Given the description of an element on the screen output the (x, y) to click on. 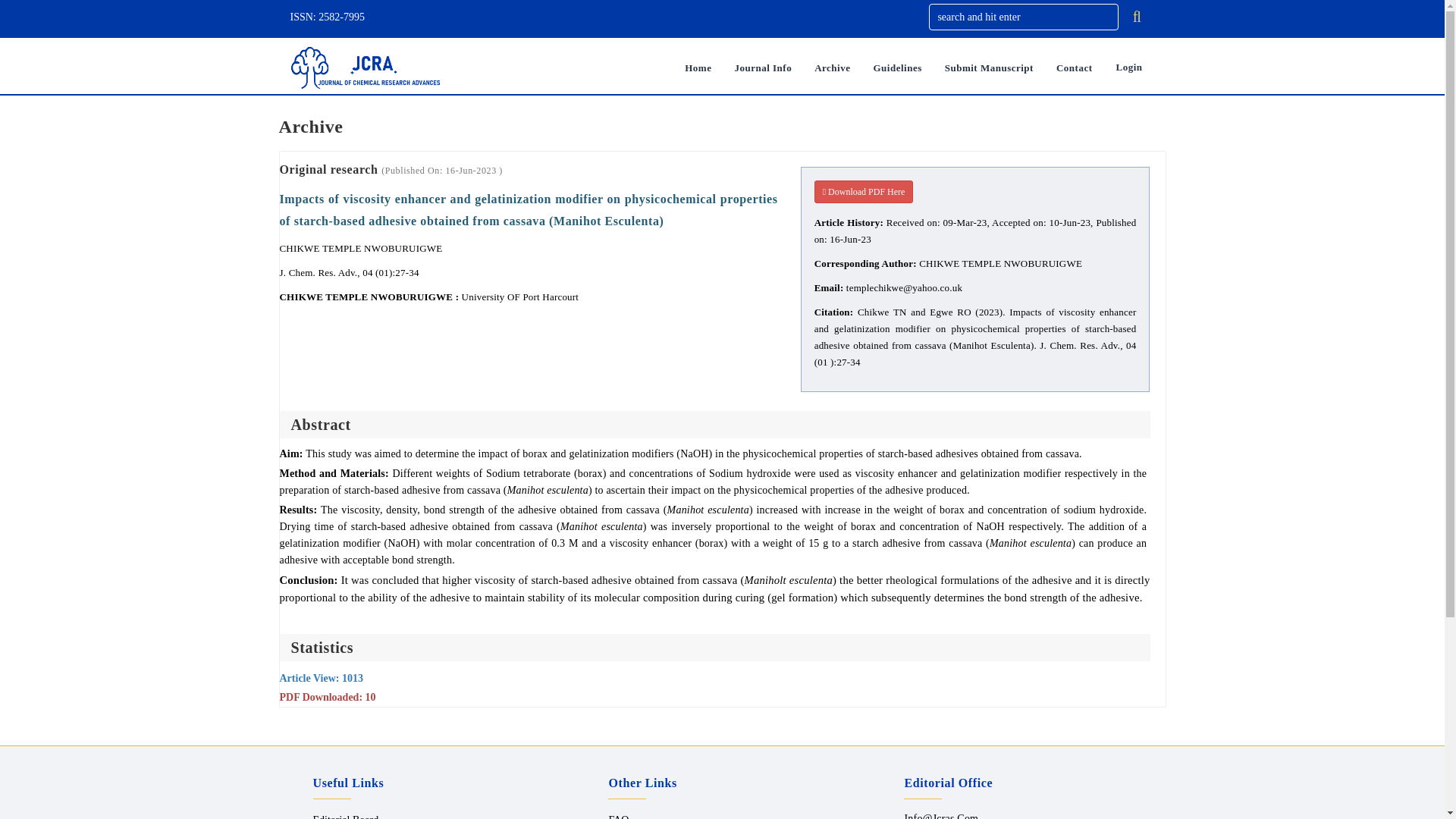
Guidelines (897, 68)
Contact (1074, 68)
Home (697, 68)
Archive (832, 68)
Login (1128, 67)
Journal Info (762, 68)
Submit Manuscript (989, 68)
